Given the description of an element on the screen output the (x, y) to click on. 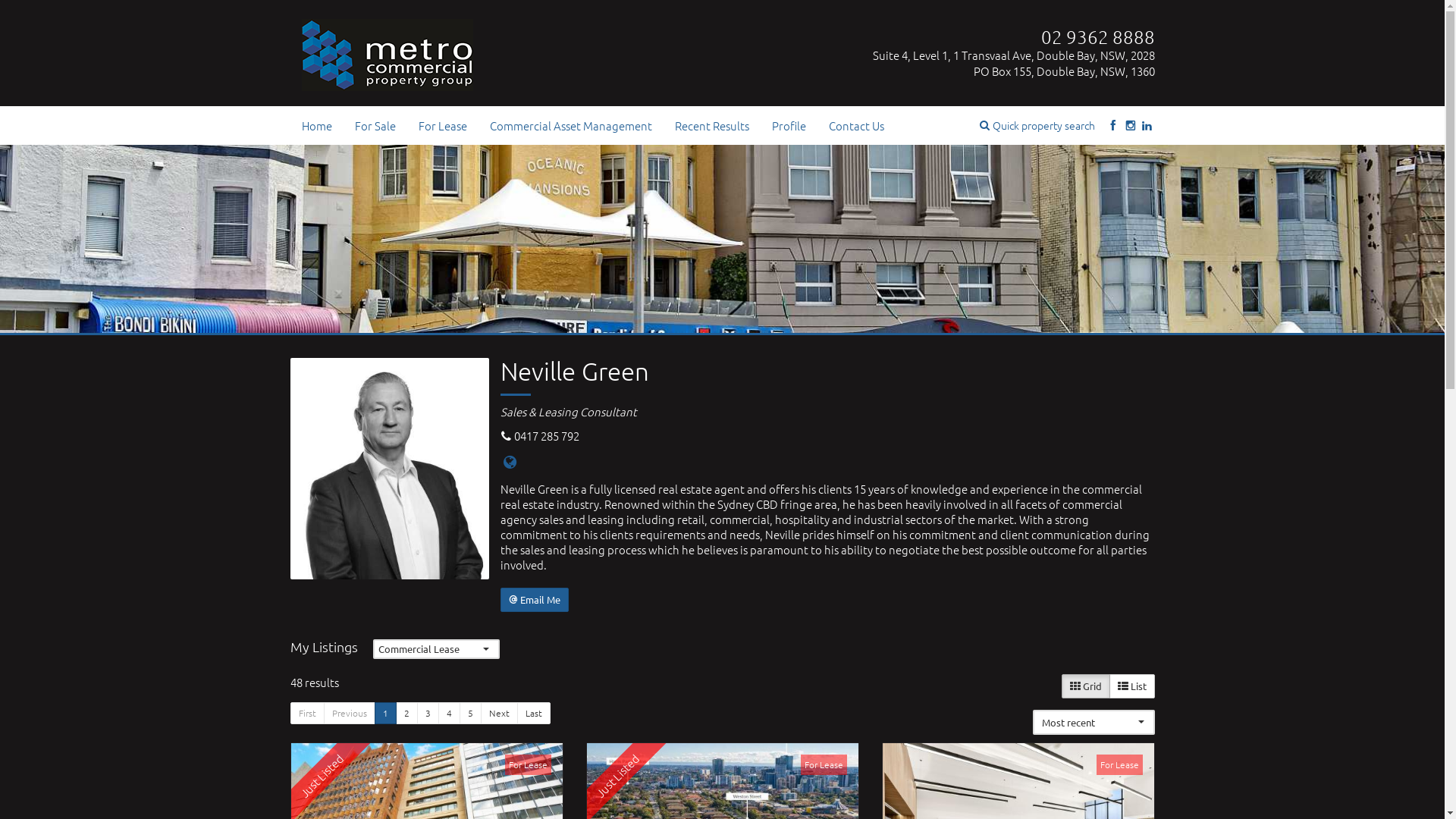
Most recent
  Element type: text (1093, 722)
Profile Element type: text (787, 125)
5 Element type: text (470, 713)
4 Element type: text (449, 713)
Recent Results Element type: text (710, 125)
Home Element type: text (315, 125)
Last Element type: text (533, 713)
Metro Commercial Partners Pty Ltd Element type: hover (387, 51)
For Sale Element type: text (374, 125)
2 Element type: text (406, 713)
Next Element type: text (498, 713)
1 Element type: text (385, 713)
3 Element type: text (428, 713)
Email Me Element type: text (534, 599)
For Lease Element type: text (441, 125)
Quick property search Element type: text (1037, 125)
Commercial Lease
  Element type: text (436, 648)
Commercial Asset Management Element type: text (569, 125)
First Element type: text (306, 713)
Contact Us Element type: text (856, 125)
Previous Element type: text (348, 713)
